Given the description of an element on the screen output the (x, y) to click on. 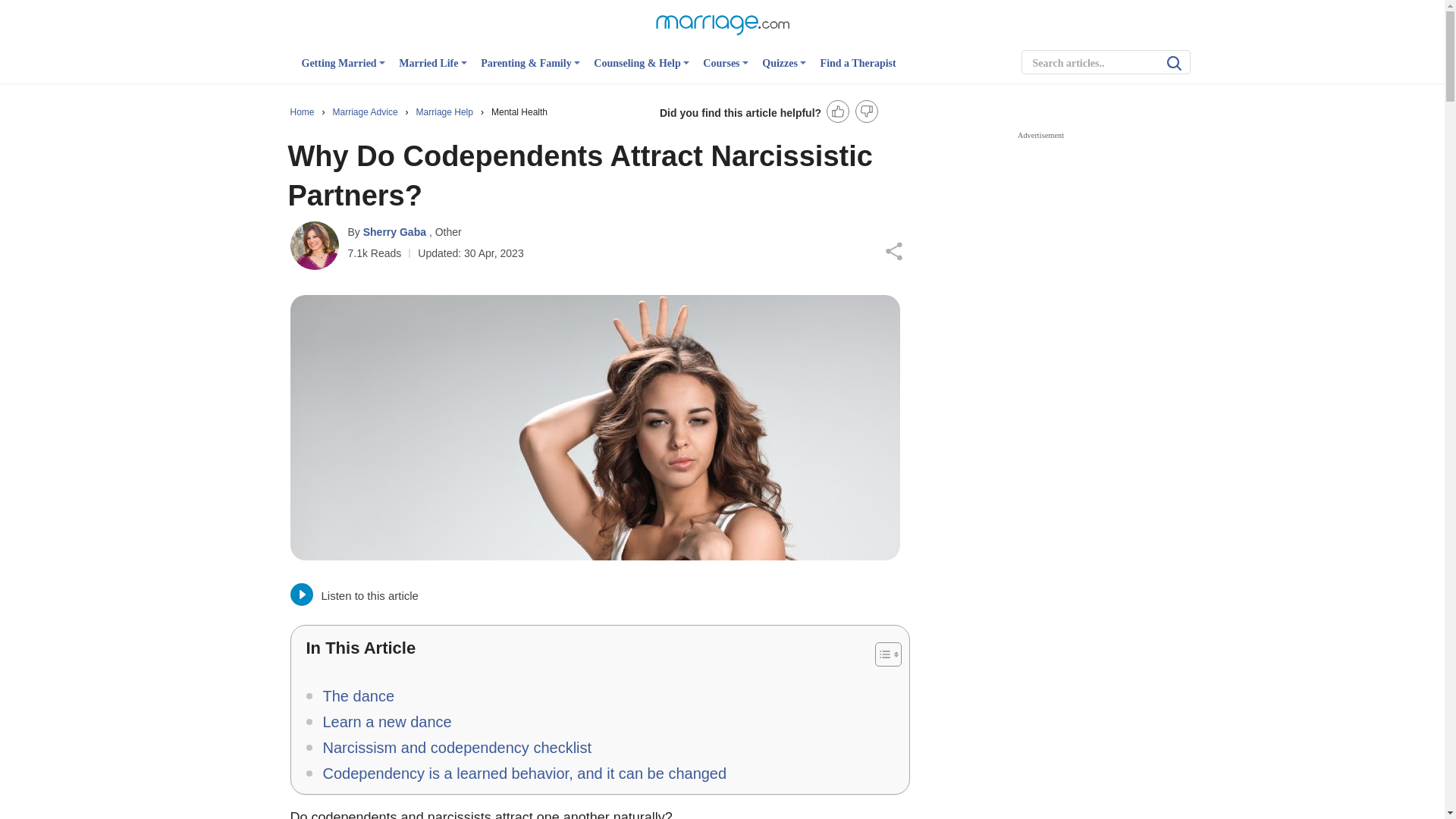
The dance (349, 696)
Narcissism and codependency checklist (448, 747)
Mental Health (519, 112)
Marriage Help (446, 112)
Play (301, 594)
Getting Married (343, 69)
Codependency is a learned behavior, and it can be changed (515, 773)
Find a Therapist (858, 69)
Quizzes (783, 69)
Home (302, 112)
Home (302, 112)
Marriage.com - Building World's Largest Marriage Resource (721, 23)
Married Life (432, 69)
Marriage Advice (366, 112)
